Given the description of an element on the screen output the (x, y) to click on. 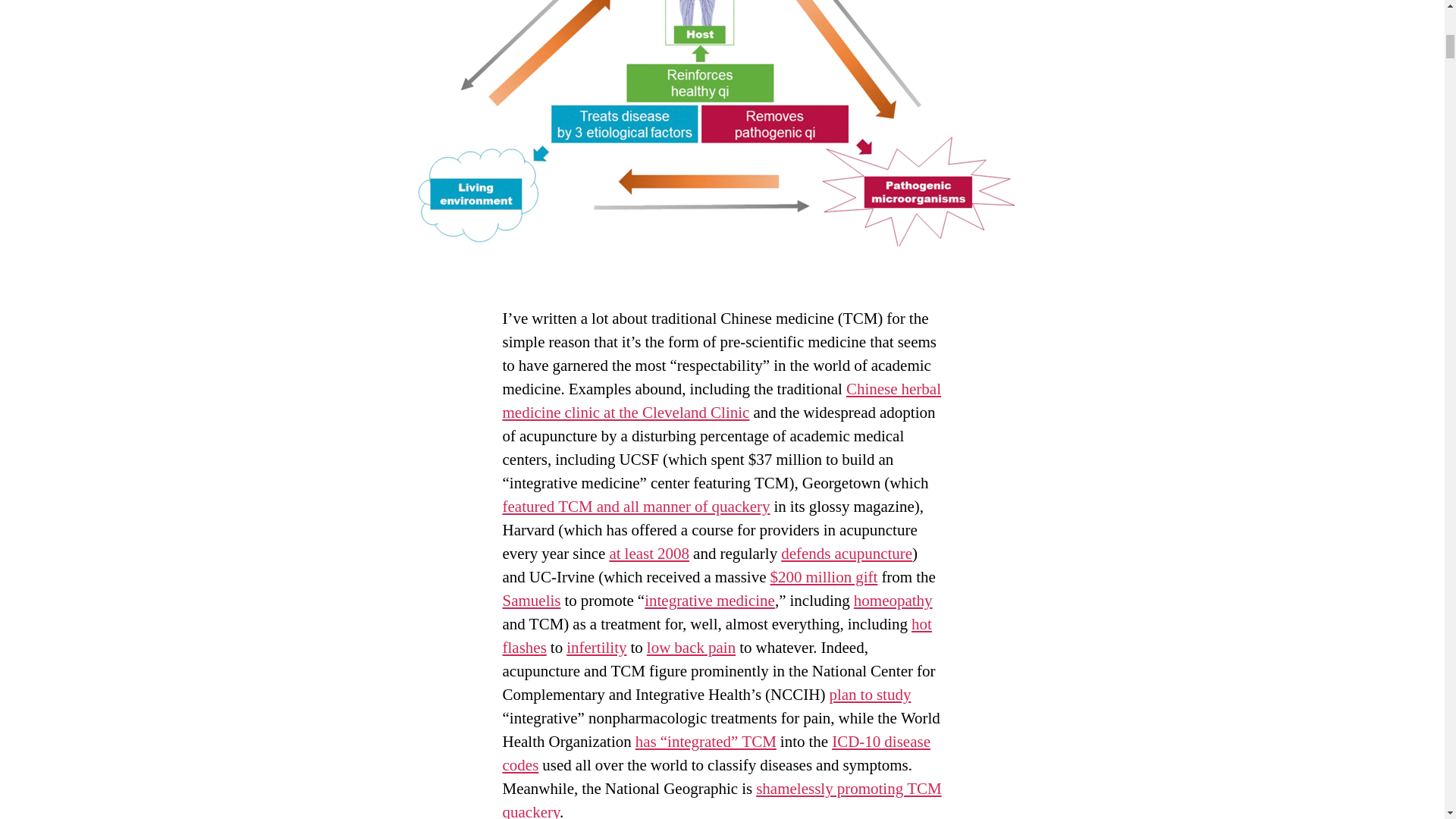
integrative medicine (709, 600)
defends acupuncture (846, 553)
featured TCM and all manner of quackery (636, 506)
at least 2008 (648, 553)
Samuelis (531, 600)
Chinese herbal medicine clinic at the Cleveland Clinic (721, 401)
